Given the description of an element on the screen output the (x, y) to click on. 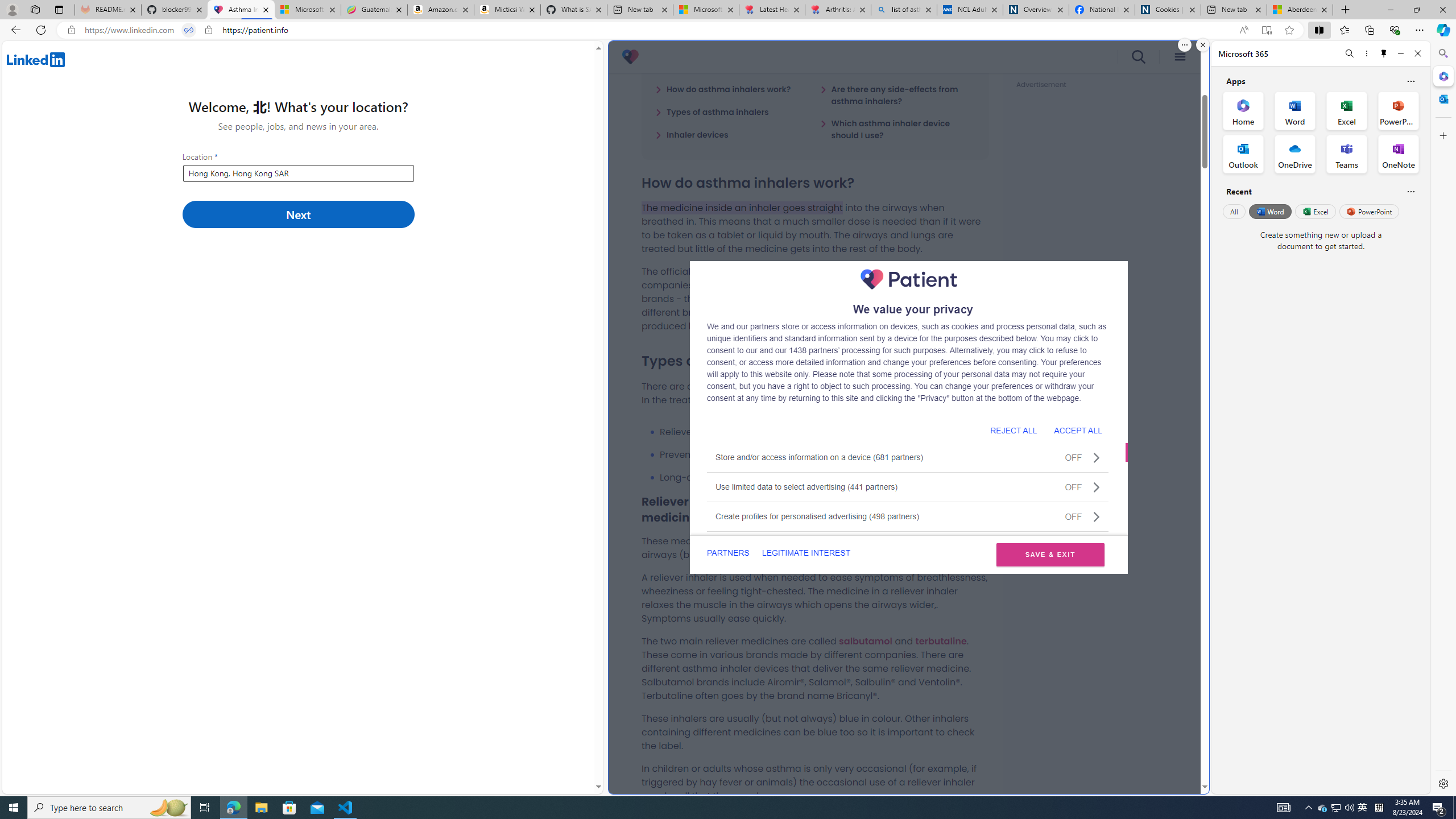
SAVE & EXIT (1050, 554)
Excel Office App (1346, 110)
More options. (1183, 45)
Tabs in split screen (189, 29)
Unpin side pane (1383, 53)
PowerPoint (1369, 210)
Microsoft Start (706, 9)
More options (1366, 53)
PowerPoint Office App (1398, 110)
New tab (1233, 9)
Close split screen. (1202, 45)
ACCEPT ALL (1078, 430)
All (1233, 210)
